Given the description of an element on the screen output the (x, y) to click on. 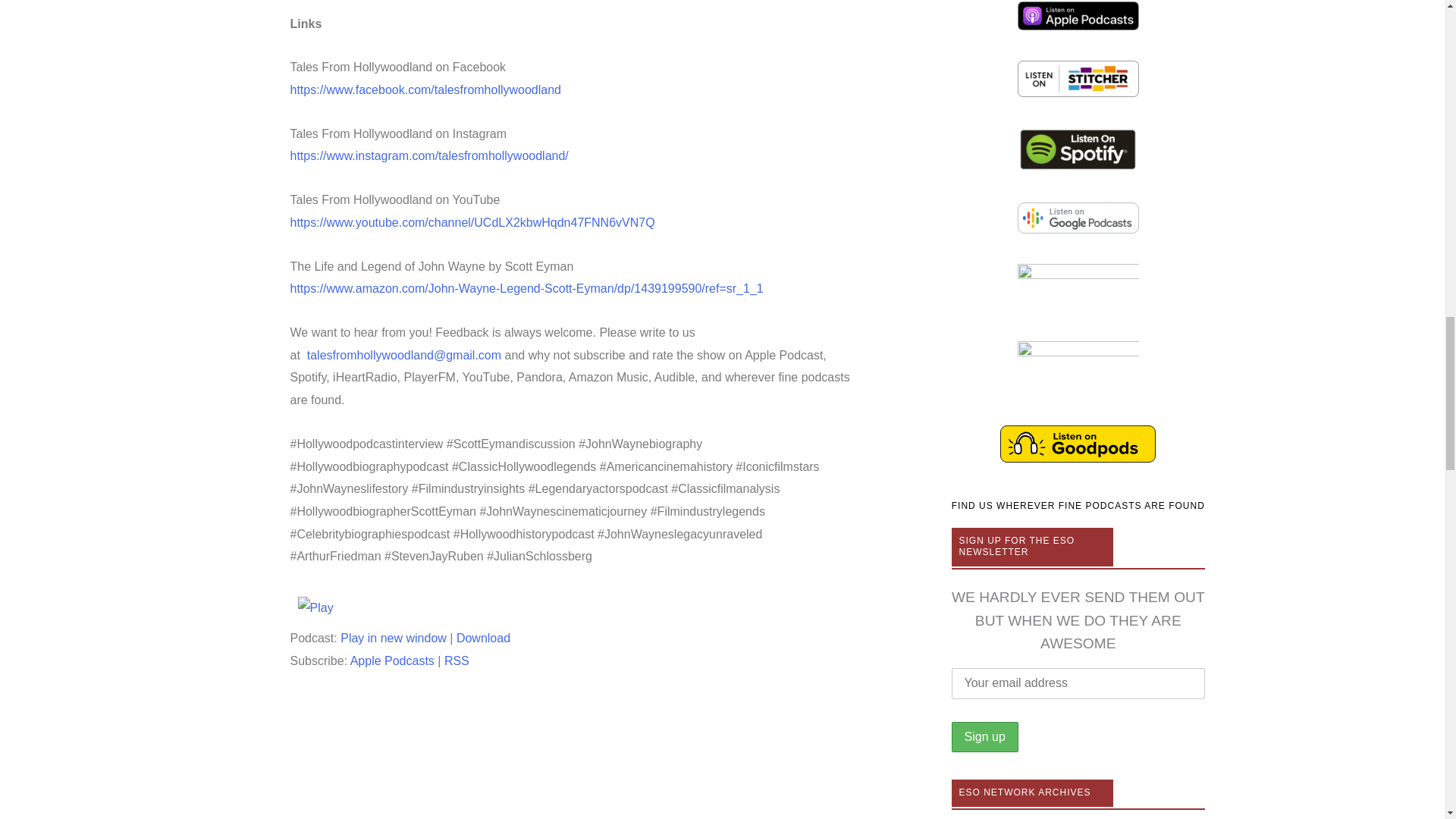
Subscribe via RSS (456, 660)
Play (314, 606)
Download (484, 637)
Play in new window (393, 637)
Play (314, 607)
Sign up (984, 736)
Subscribe on Apple Podcasts (391, 660)
